Given the description of an element on the screen output the (x, y) to click on. 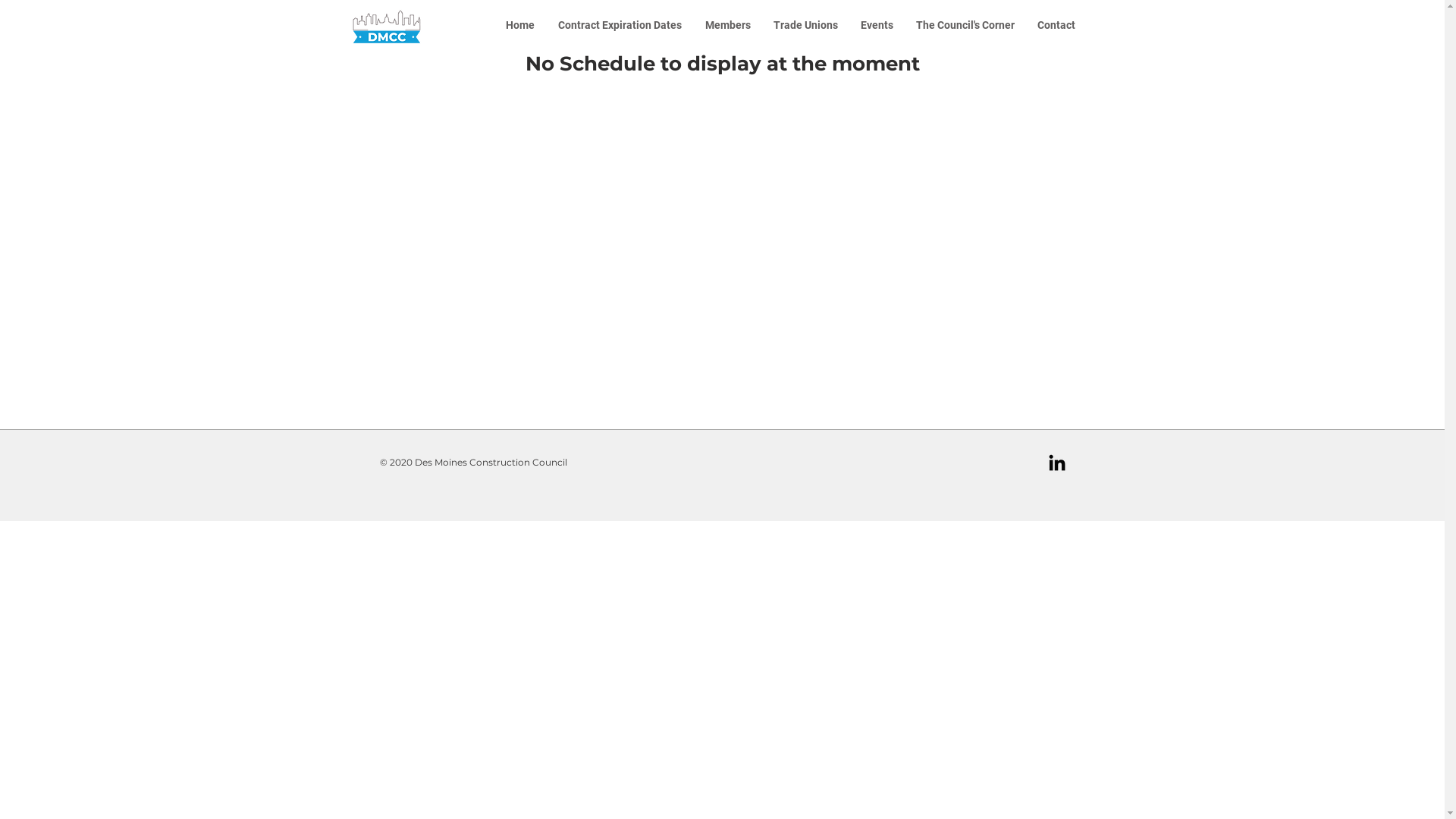
Contact Element type: text (1055, 25)
Contract Expiration Dates Element type: text (619, 25)
Events Element type: text (876, 25)
Home Element type: text (520, 25)
The Council's Corner Element type: text (964, 25)
Trade Unions Element type: text (804, 25)
Members Element type: text (727, 25)
